Given the description of an element on the screen output the (x, y) to click on. 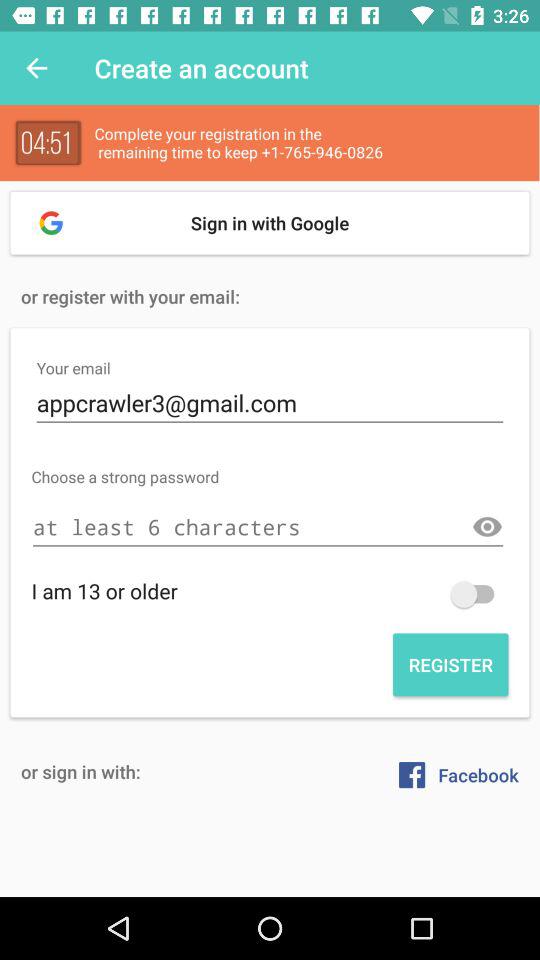
switch autoplay option (477, 594)
